Given the description of an element on the screen output the (x, y) to click on. 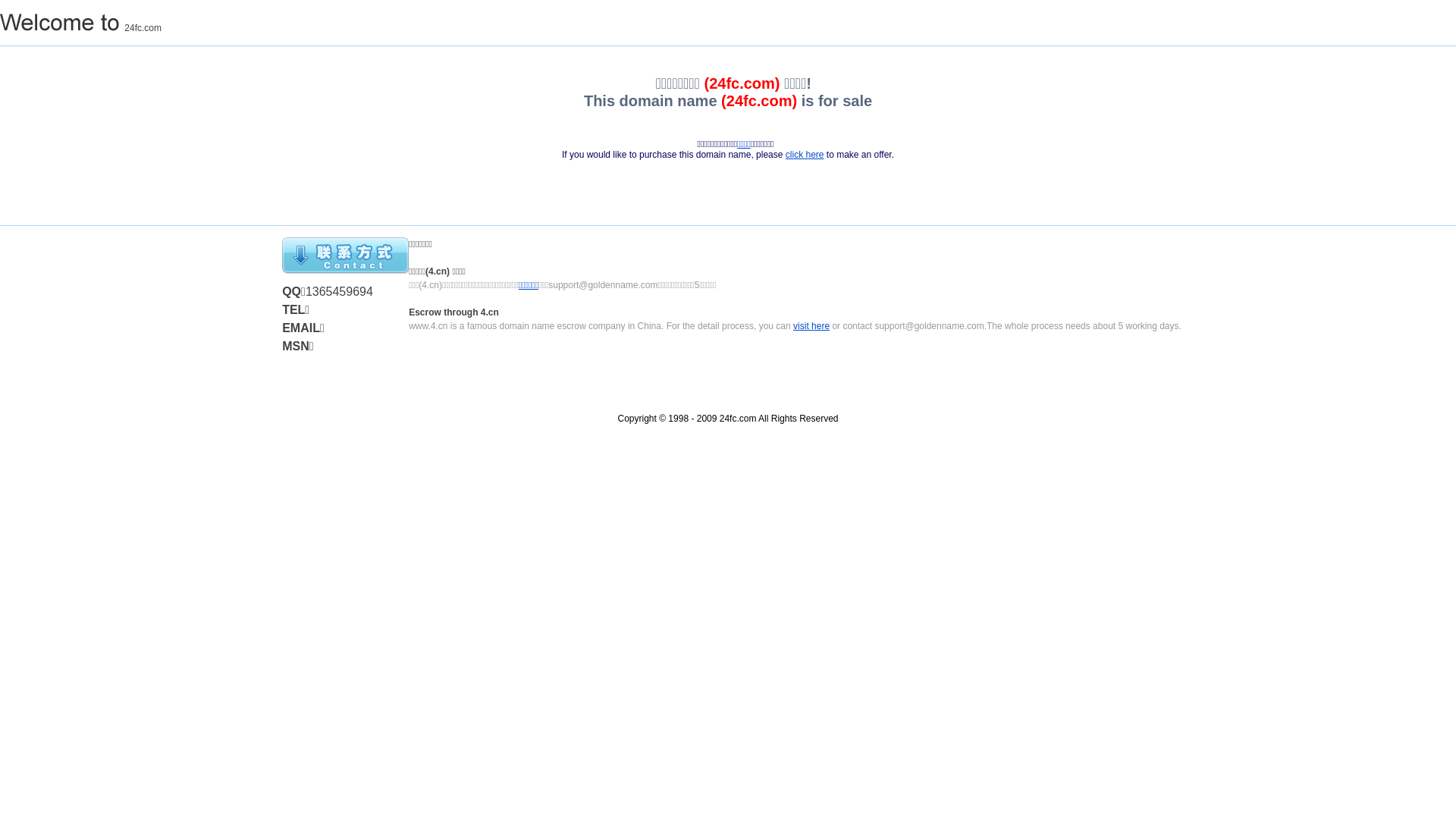
visit here Element type: text (811, 325)
click here Element type: text (804, 154)
